Given the description of an element on the screen output the (x, y) to click on. 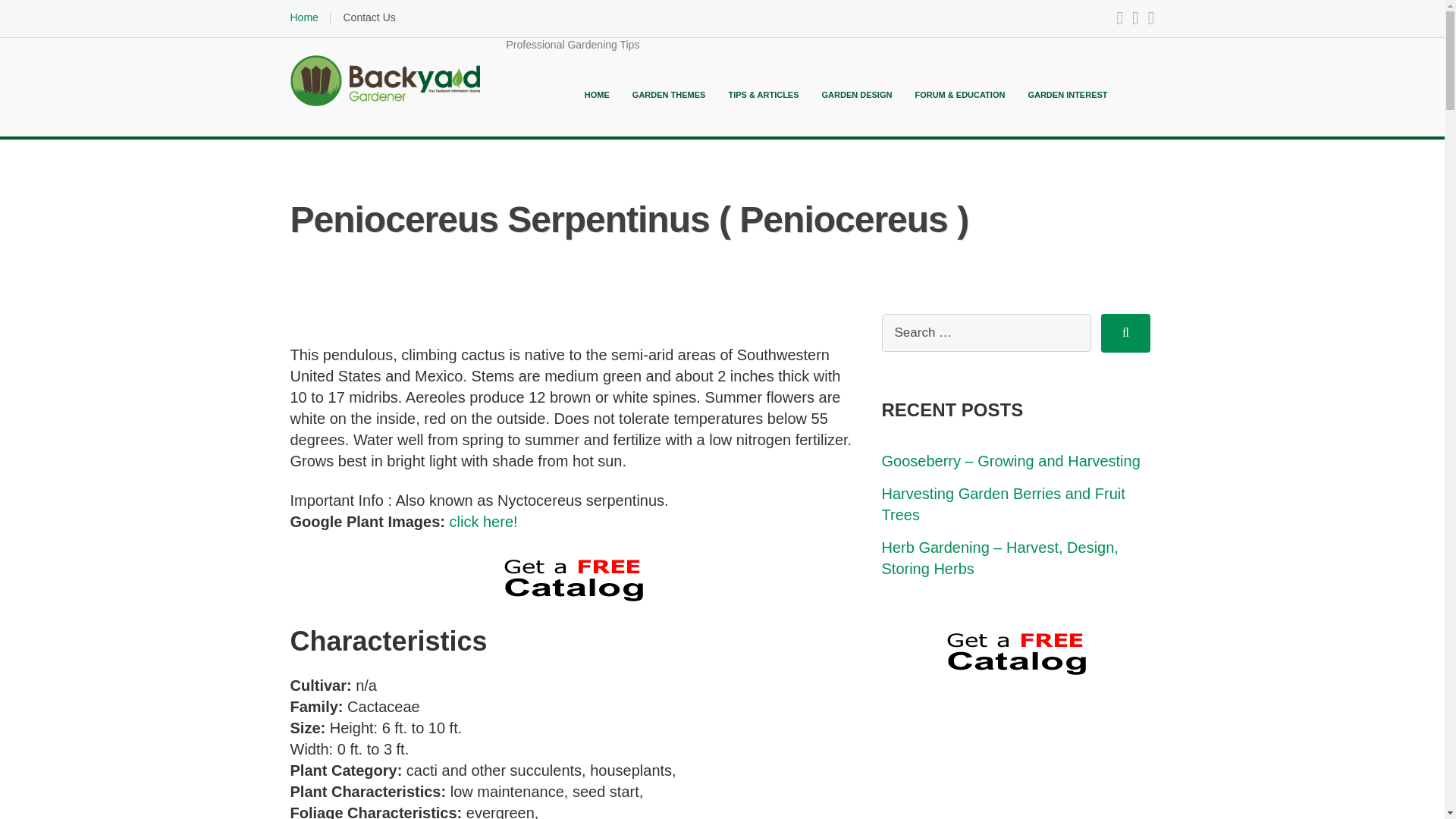
Home (303, 17)
HOME (597, 94)
Search for: (985, 332)
Contact Us (368, 17)
GARDEN THEMES (668, 94)
GARDEN DESIGN (857, 94)
